Given the description of an element on the screen output the (x, y) to click on. 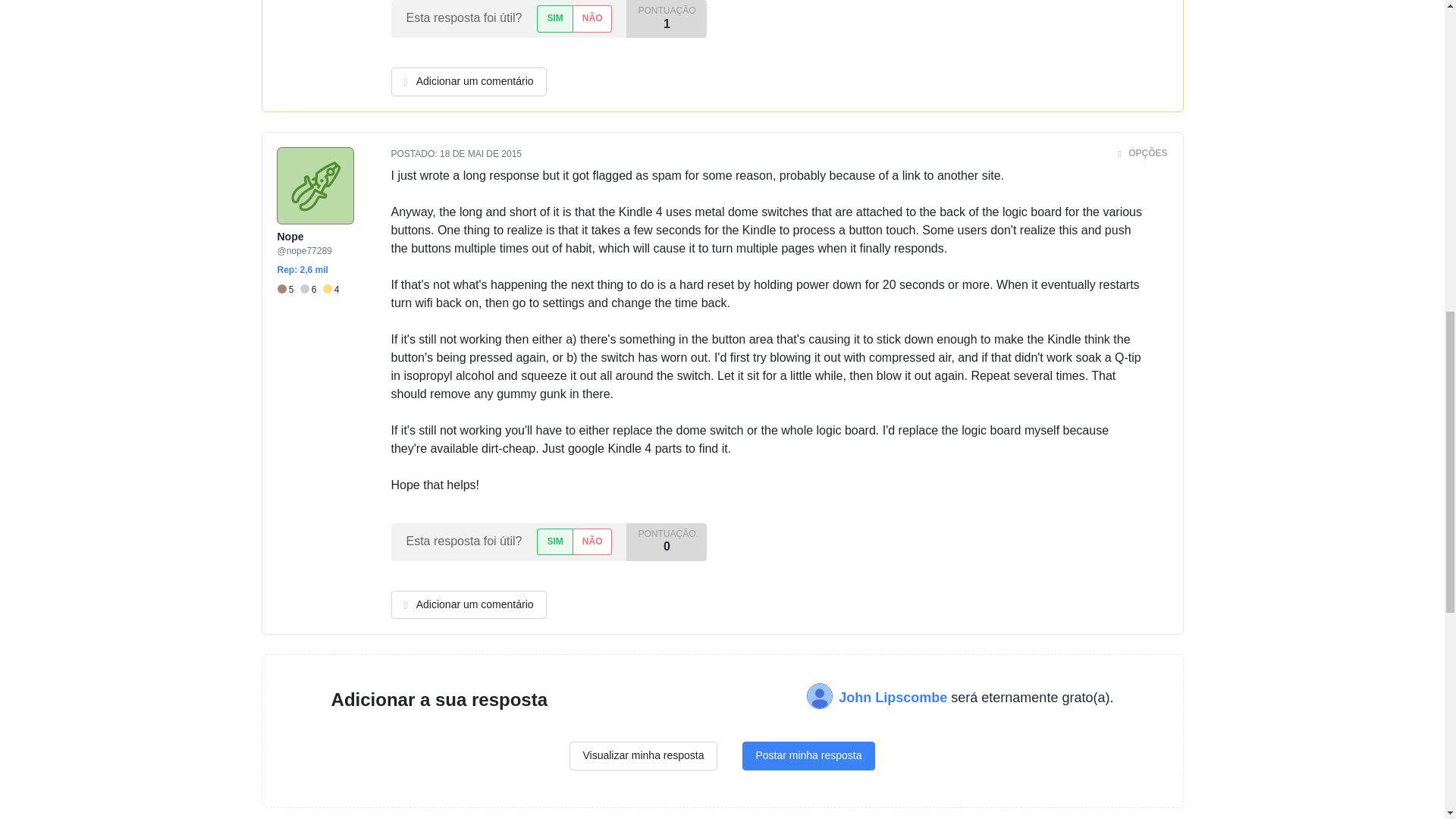
5 emblemas de Bronze (288, 289)
Mon, 18 May 2015 03:31:22 -0700 (480, 153)
6 emblemas de Prata (311, 289)
4 emblemas de Ouro (331, 289)
